Given the description of an element on the screen output the (x, y) to click on. 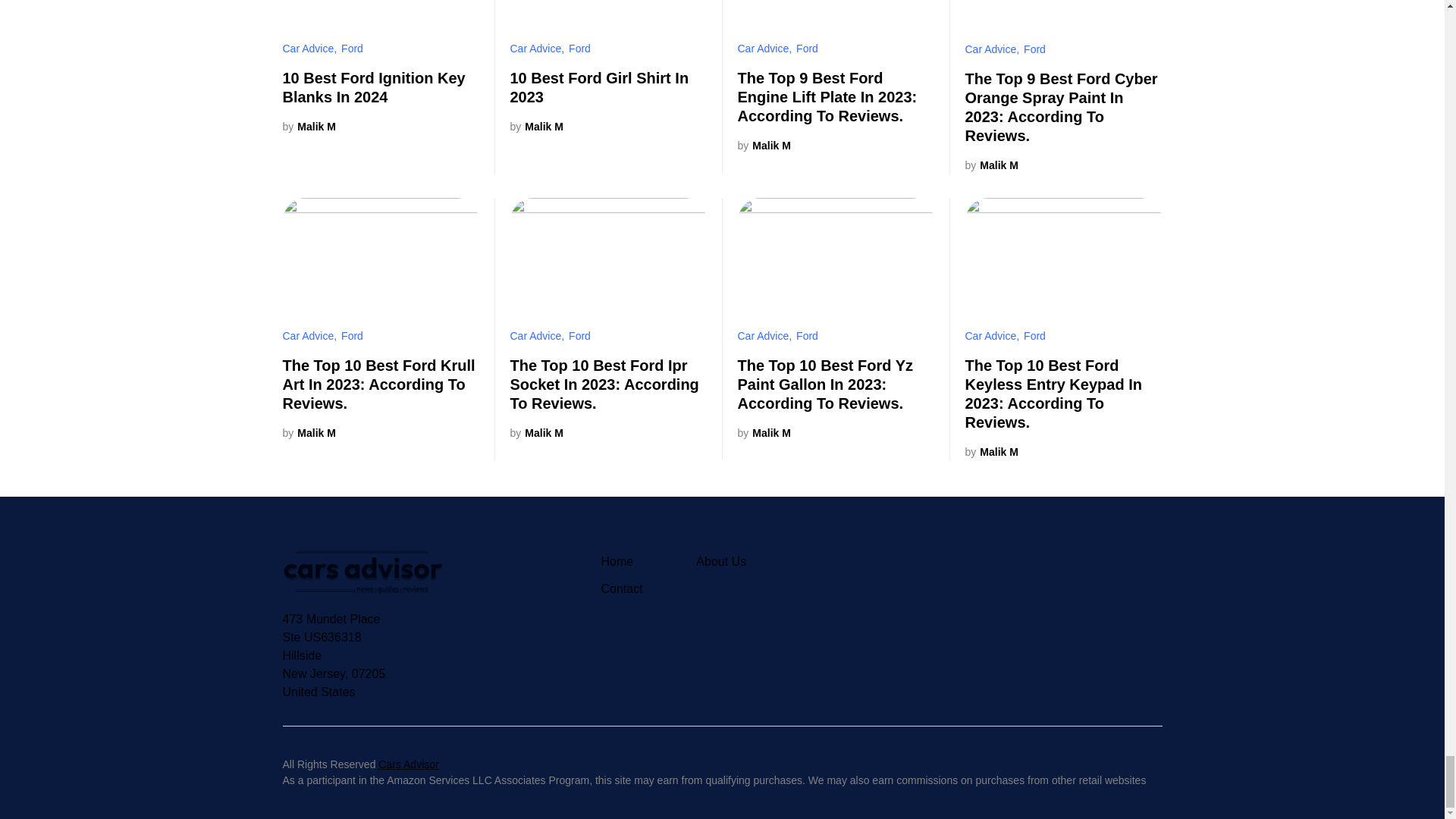
View all posts by Malik M (763, 145)
View all posts by Malik M (763, 433)
View all posts by Malik M (990, 165)
View all posts by Malik M (308, 433)
View all posts by Malik M (535, 433)
View all posts by Malik M (535, 126)
View all posts by Malik M (990, 452)
View all posts by Malik M (308, 126)
